Given the description of an element on the screen output the (x, y) to click on. 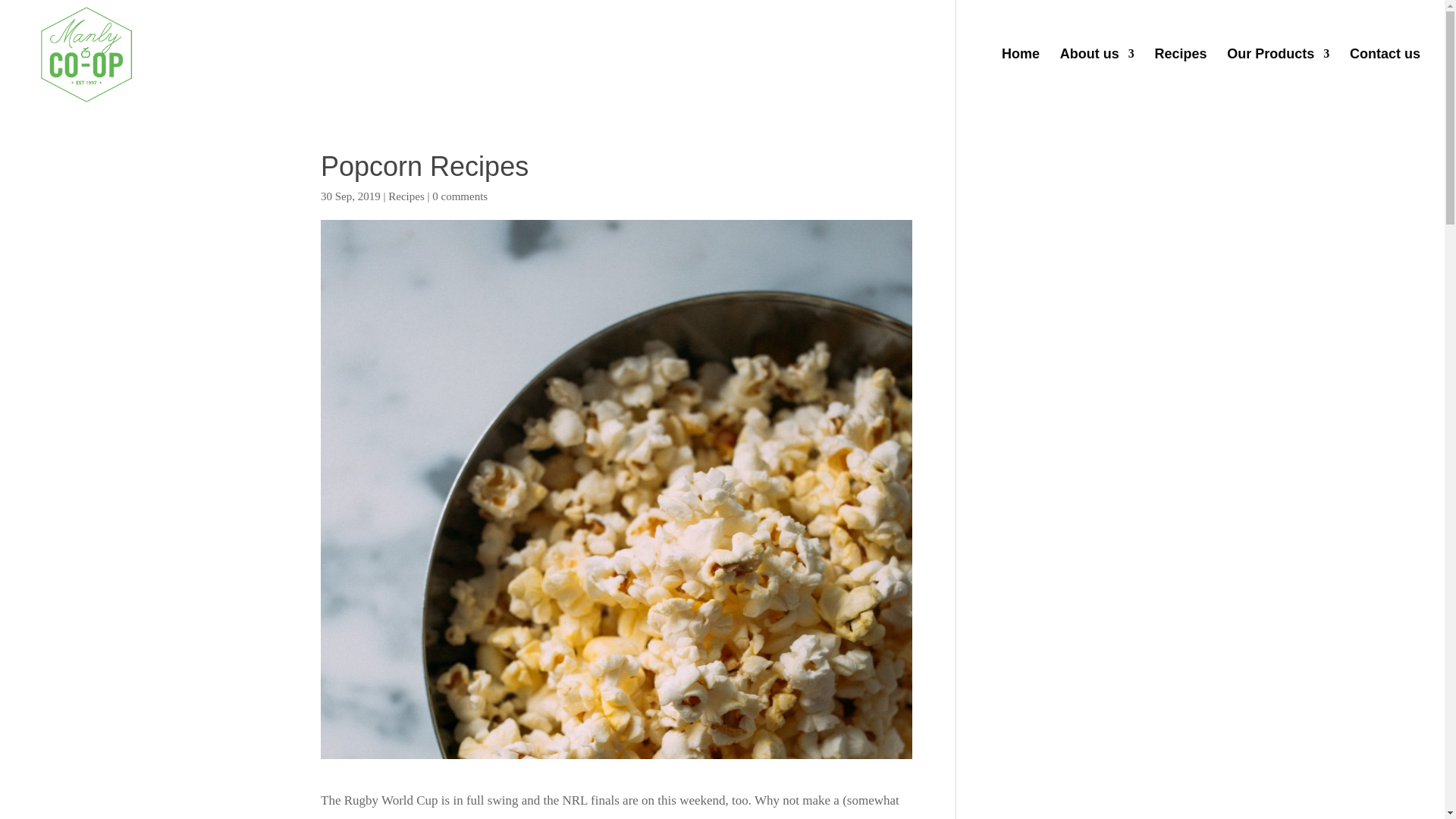
Recipes (405, 196)
Our Products (1278, 77)
About us (1096, 77)
0 comments (459, 196)
Contact us (1385, 77)
